Given the description of an element on the screen output the (x, y) to click on. 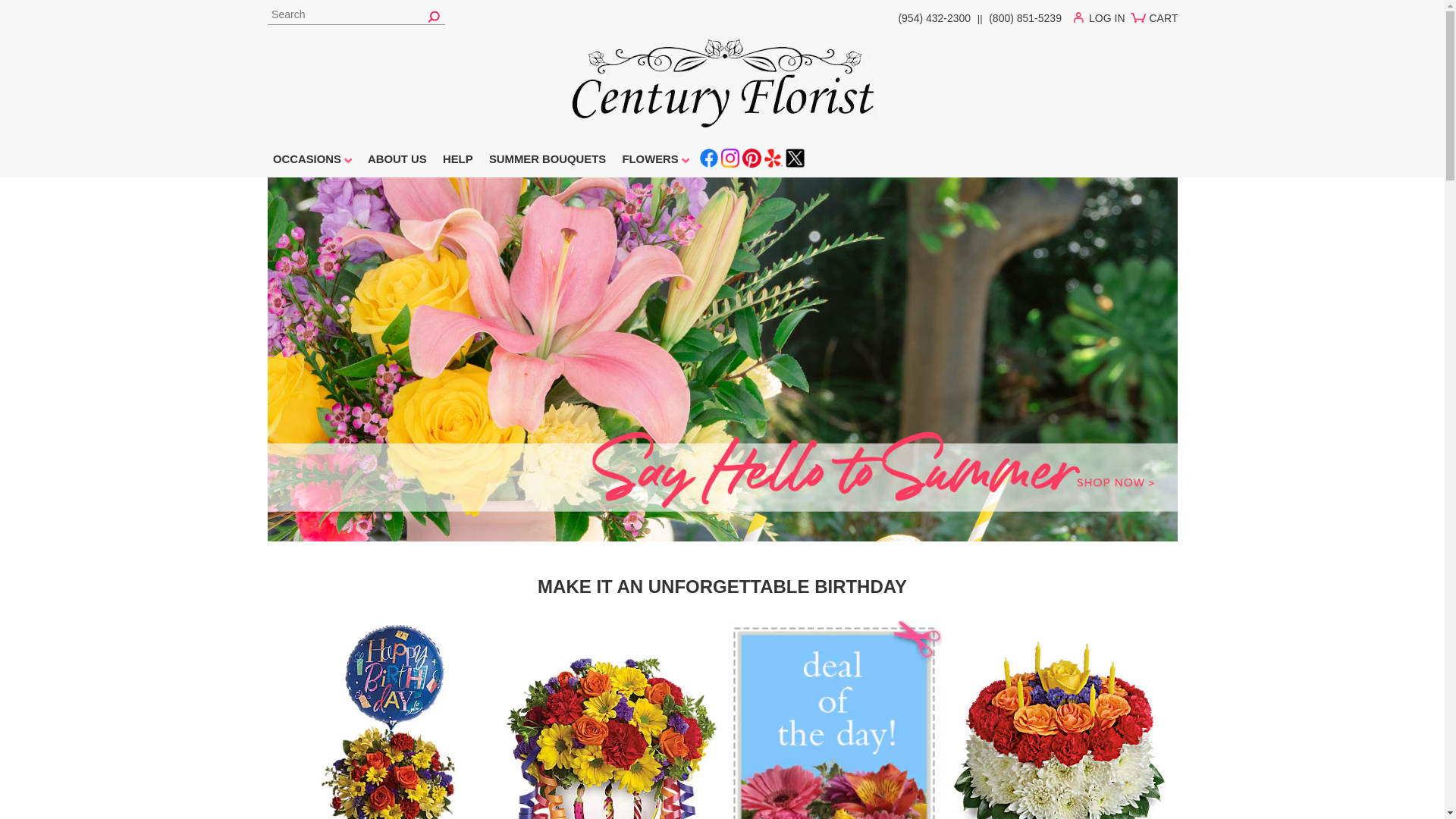
log In (1103, 21)
FLOWERS (654, 161)
SUMMER BOUQUETS (547, 161)
LOG IN (1103, 21)
Go (434, 15)
OCCASIONS (311, 161)
HELP (458, 161)
ABOUT US (397, 161)
Search (355, 14)
